Given the description of an element on the screen output the (x, y) to click on. 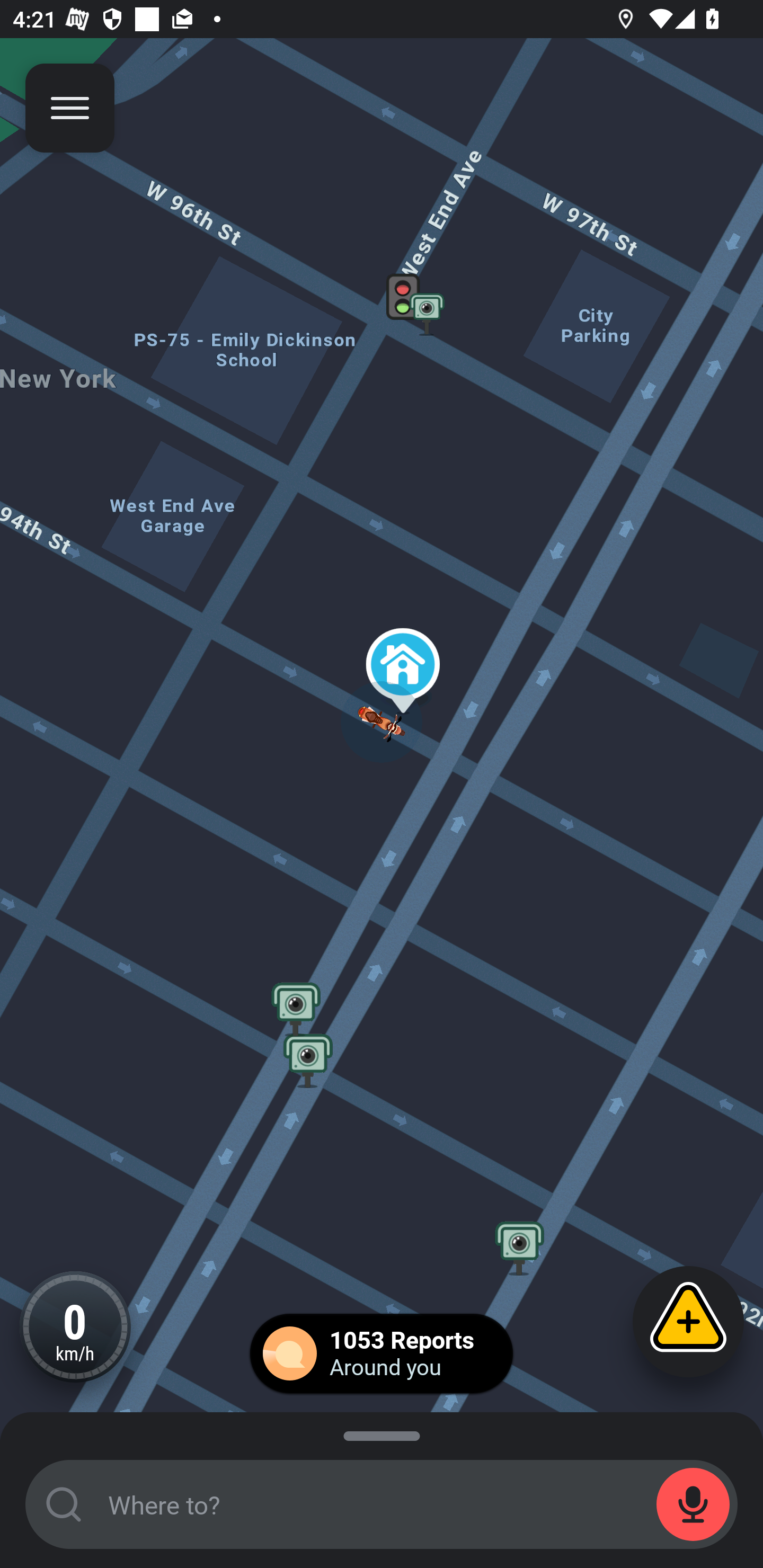
SUGGESTIONS_SHEET_DRAG_HANDLE (381, 1432)
START_STATE_SEARCH_FIELD Where to? (381, 1504)
